Given the description of an element on the screen output the (x, y) to click on. 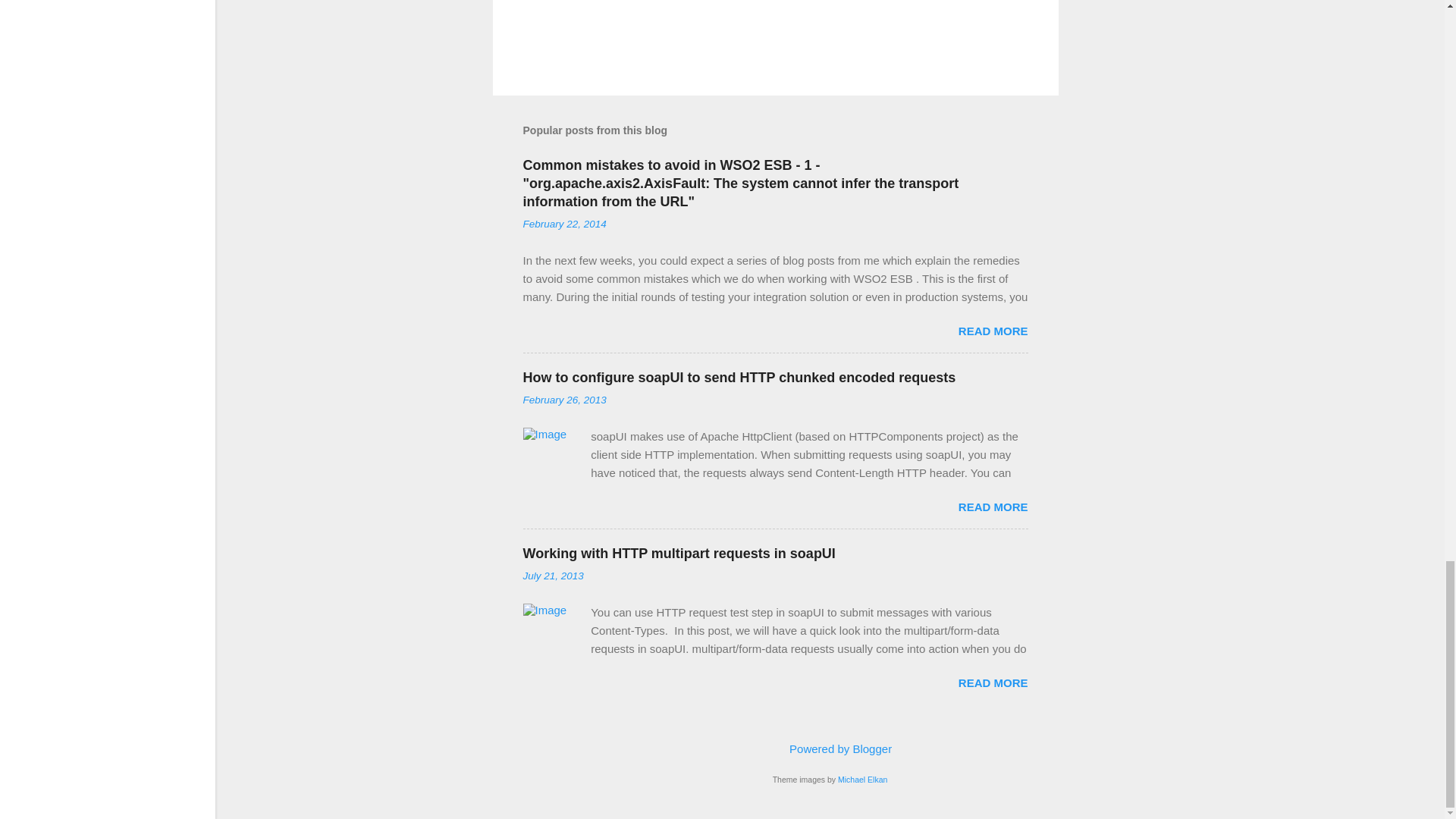
READ MORE (992, 506)
READ MORE (992, 330)
Working with HTTP multipart requests in soapUI (678, 553)
July 21, 2013 (552, 575)
February 26, 2013 (564, 399)
February 22, 2014 (564, 224)
permanent link (564, 224)
